Given the description of an element on the screen output the (x, y) to click on. 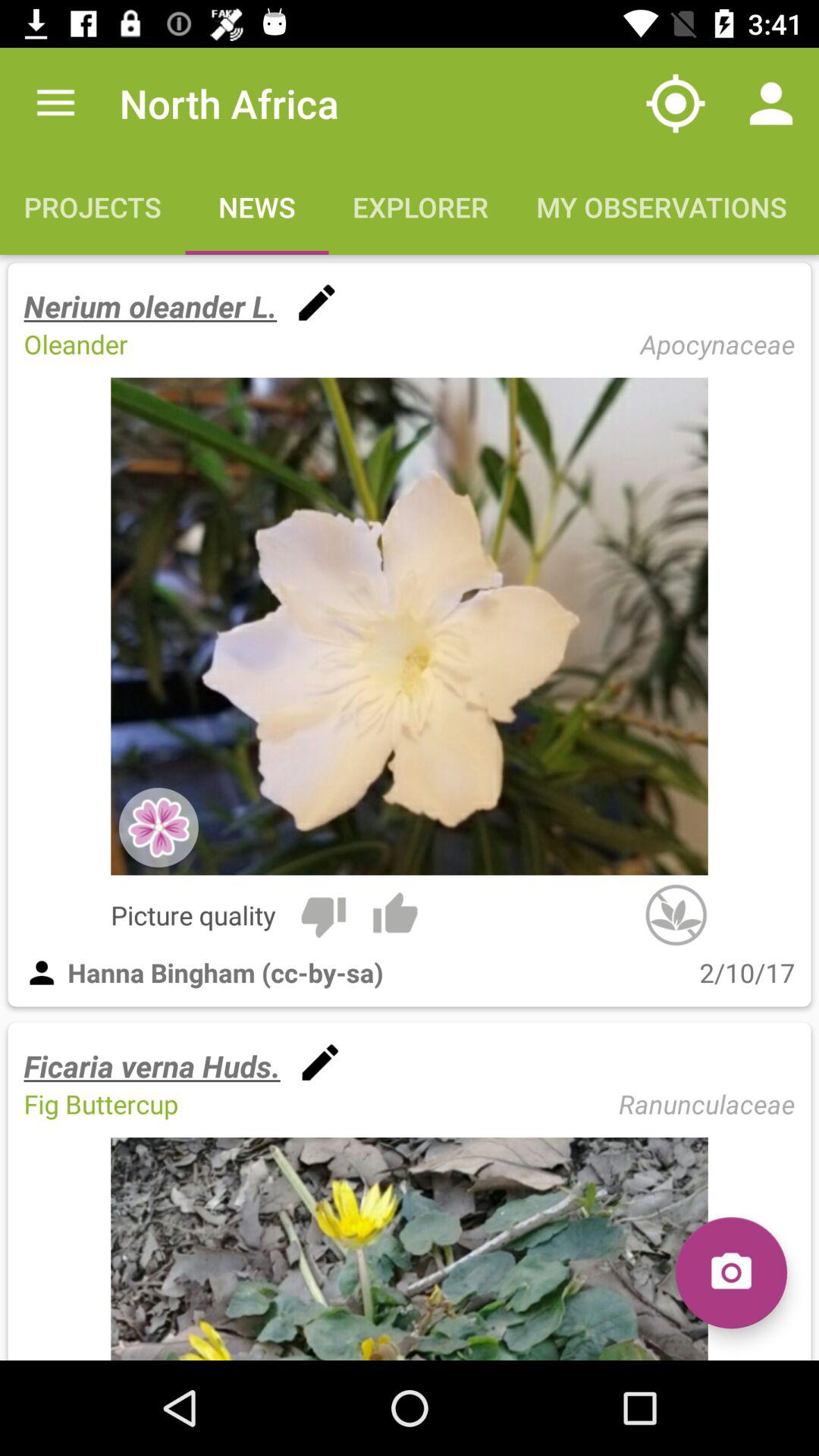
choose item below the ranunculaceae icon (731, 1272)
